Given the description of an element on the screen output the (x, y) to click on. 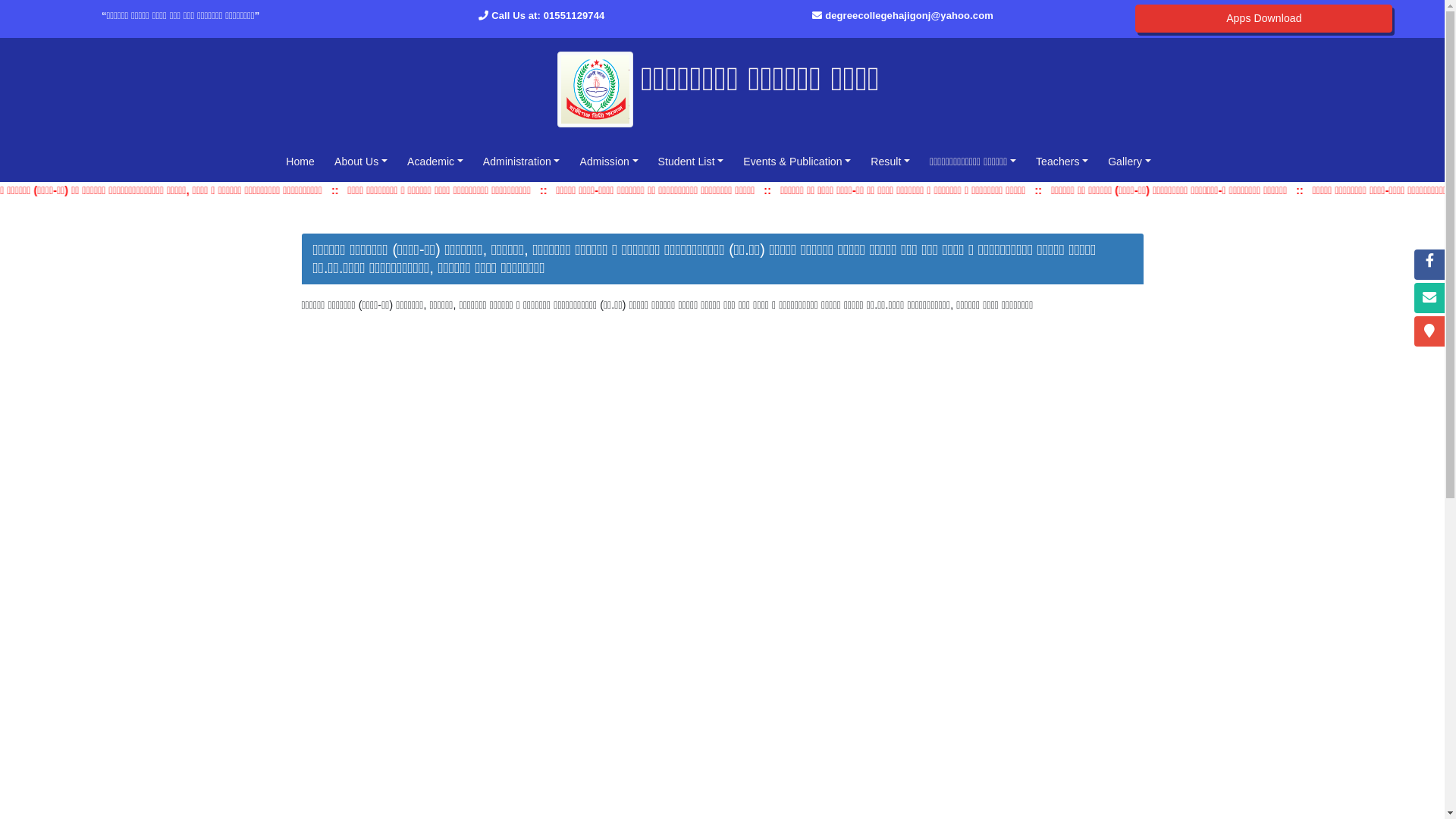
Administration Element type: text (521, 161)
Events & Publication Element type: text (796, 161)
01551129744 Element type: text (574, 15)
Gallery Element type: text (1129, 161)
Academic Element type: text (435, 161)
degreecollegehajigonj@yahoo.com Element type: text (909, 15)
Teachers Element type: text (1061, 161)
Home
(current) Element type: text (299, 161)
Admission Element type: text (608, 161)
Student List Element type: text (691, 161)
Apps Download Element type: text (1263, 18)
About Us Element type: text (360, 161)
Result Element type: text (890, 161)
